Given the description of an element on the screen output the (x, y) to click on. 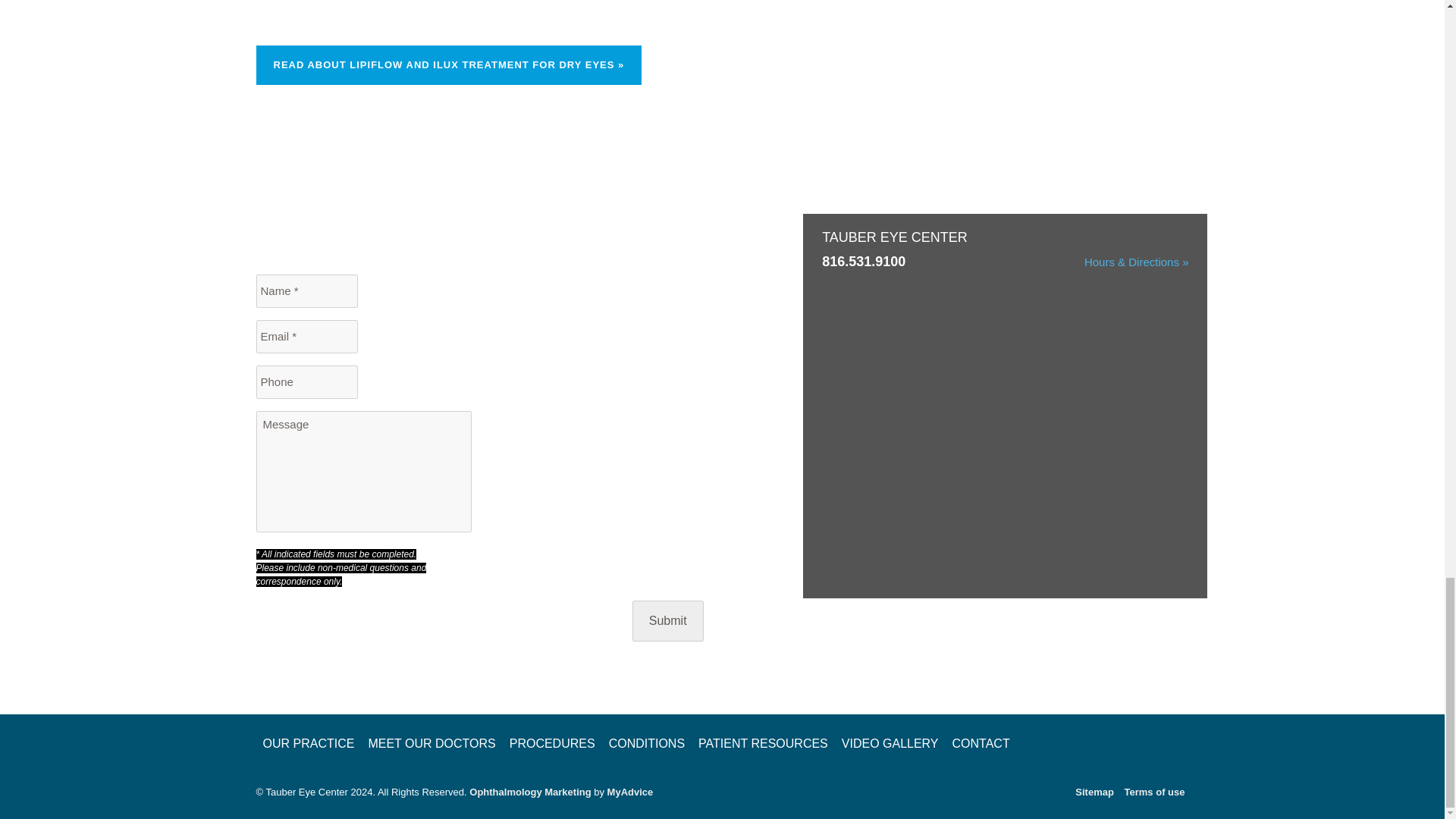
Submit (667, 620)
Submit (667, 620)
